Given the description of an element on the screen output the (x, y) to click on. 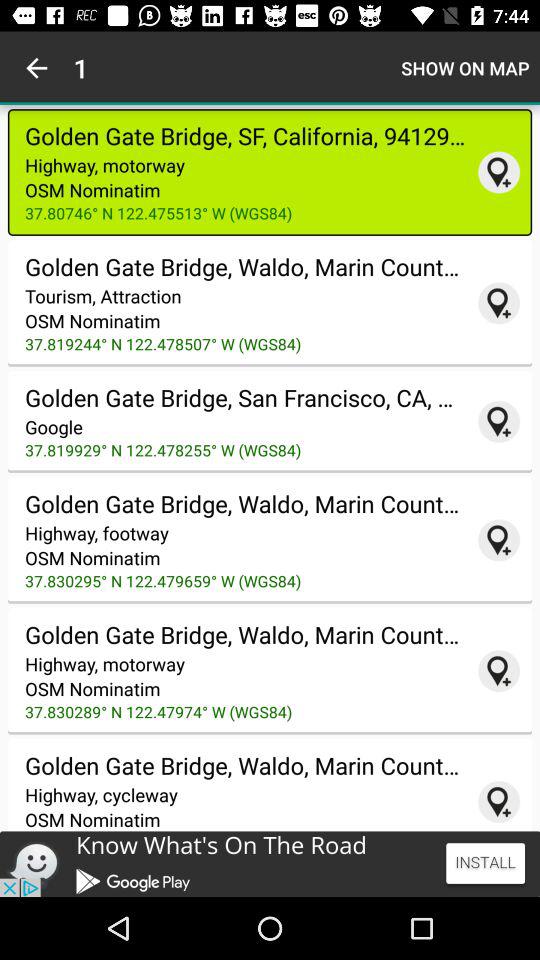
add to map (499, 172)
